Given the description of an element on the screen output the (x, y) to click on. 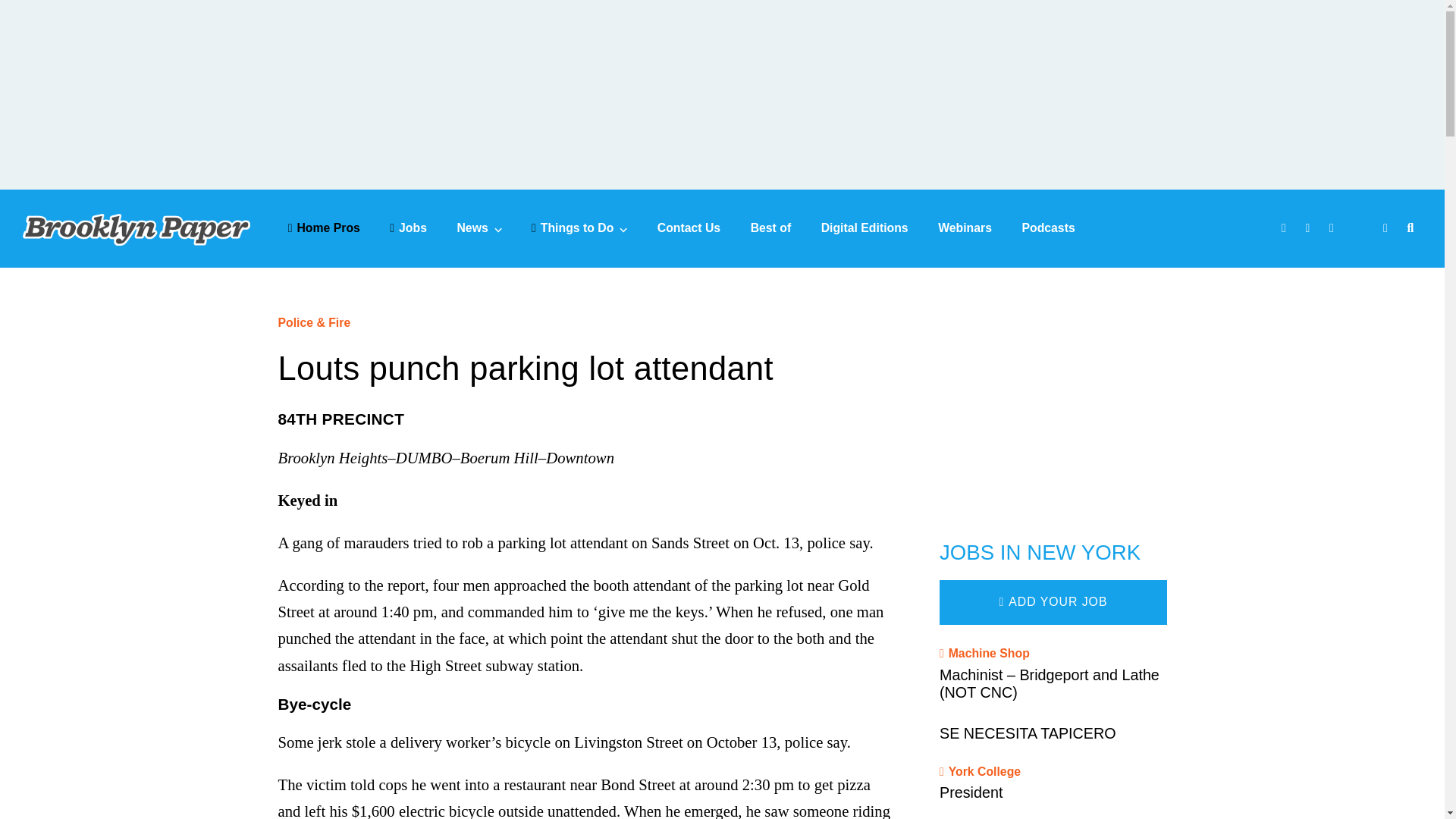
Best of (771, 227)
Digital Editions (864, 227)
Things to Do (579, 227)
Facebook (1285, 228)
Twitter (1310, 228)
Podcasts (1048, 227)
Contact Us (689, 227)
Jobs (408, 227)
Webinars (964, 227)
Instagram (1333, 228)
News (478, 227)
Home Pros (323, 227)
